Given the description of an element on the screen output the (x, y) to click on. 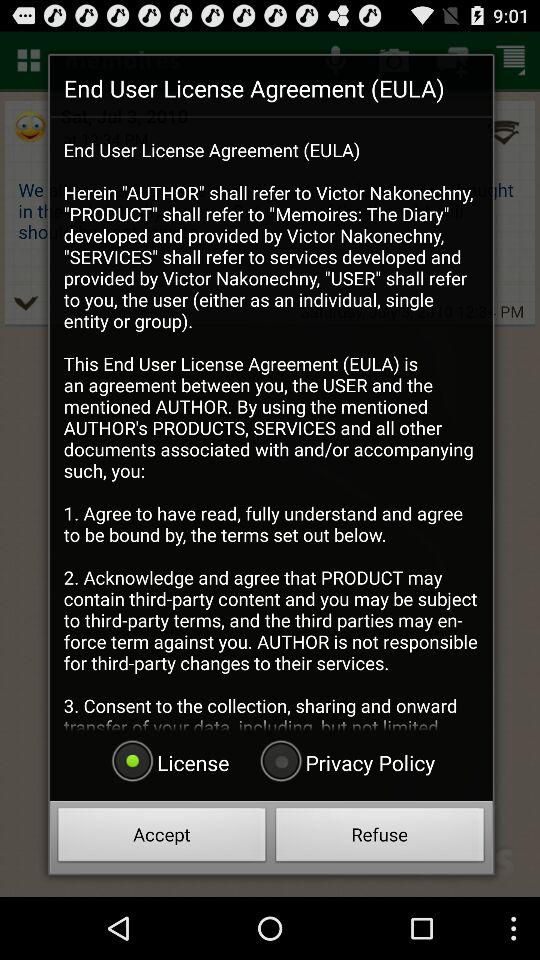
jump to the accept item (162, 837)
